Given the description of an element on the screen output the (x, y) to click on. 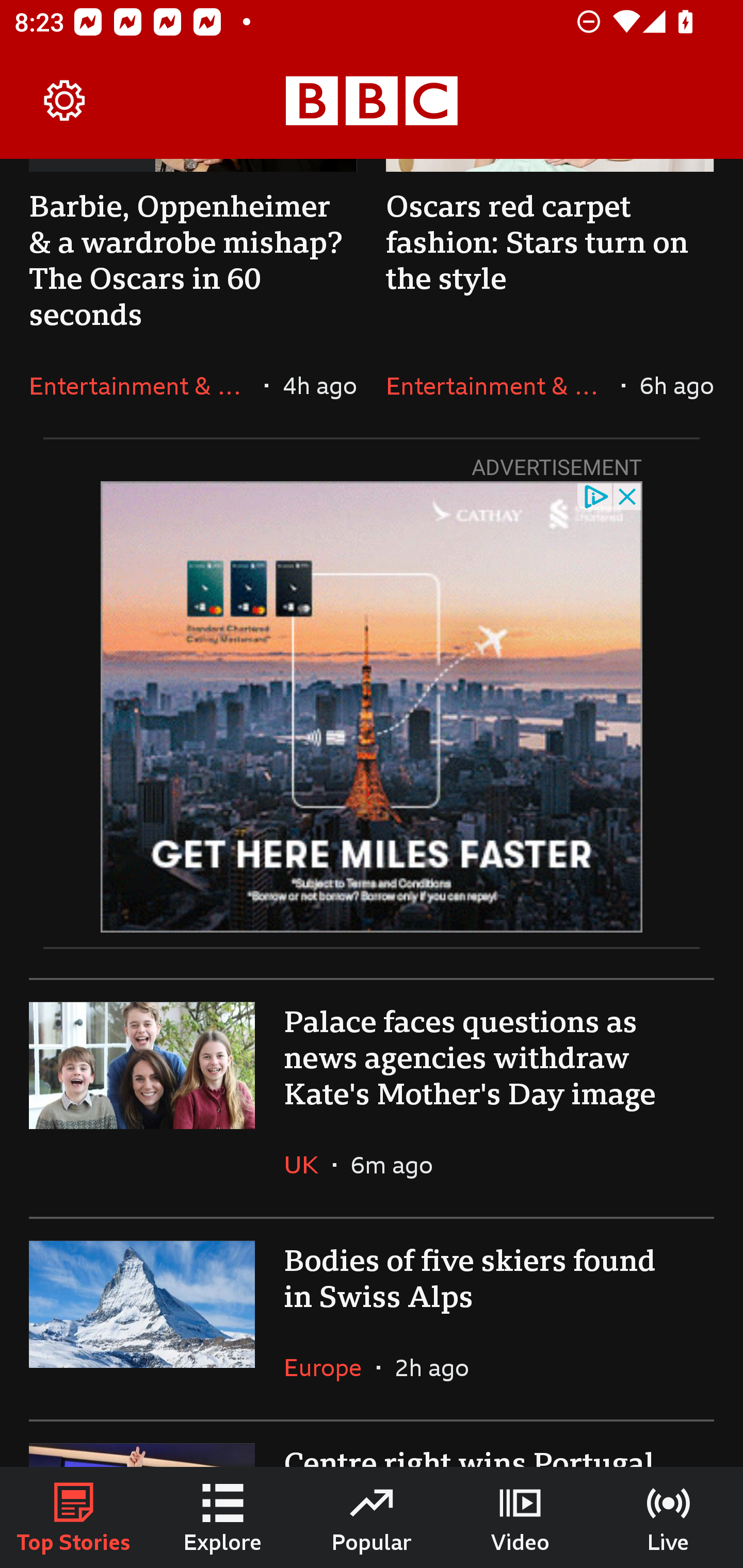
Settings (64, 100)
privacy_small (595, 495)
close_button (627, 495)
UK In the section UK (307, 1164)
Europe In the section Europe (329, 1367)
Explore (222, 1517)
Popular (371, 1517)
Video (519, 1517)
Live (668, 1517)
